Given the description of an element on the screen output the (x, y) to click on. 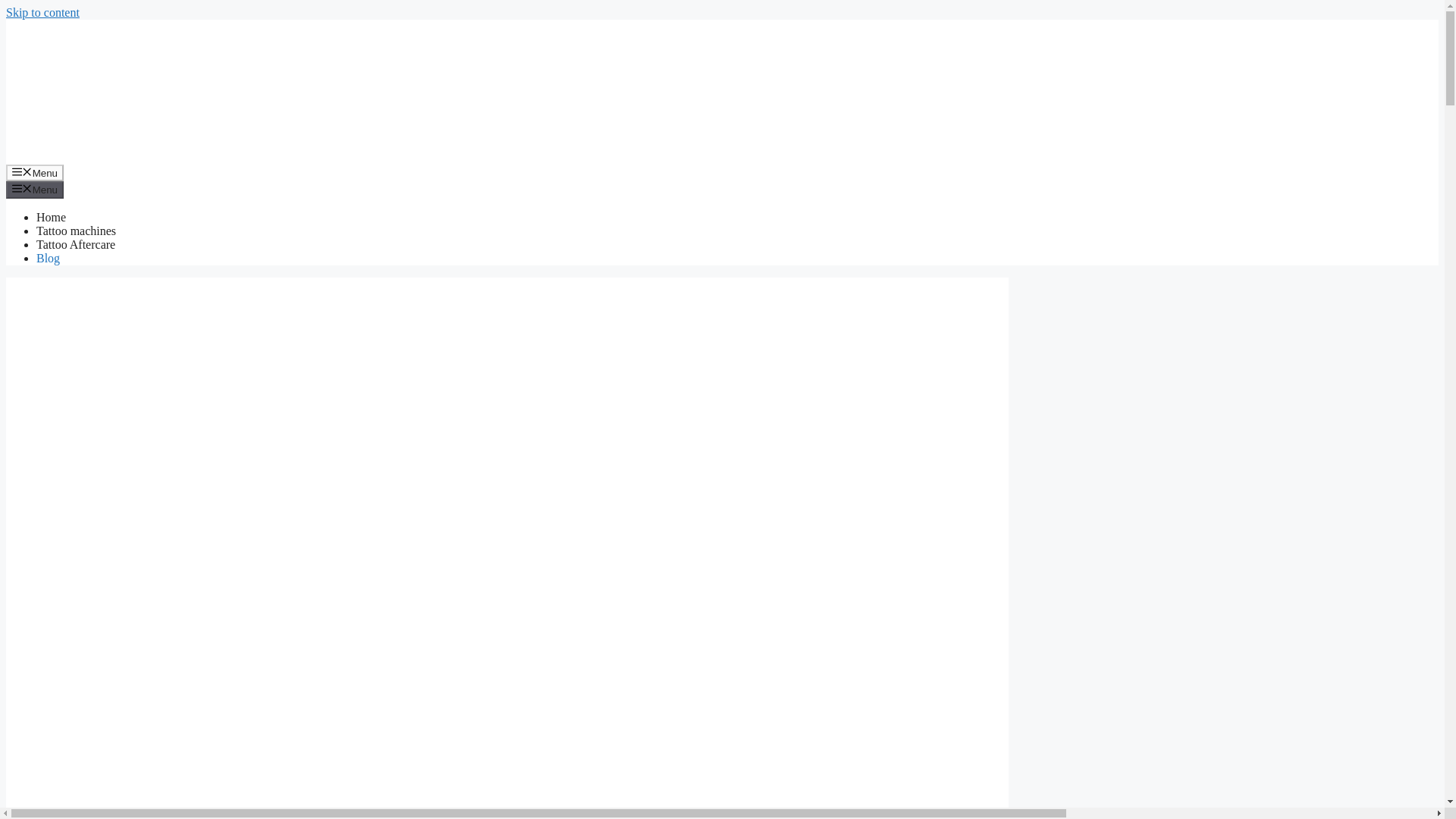
Blog (47, 257)
Menu (34, 189)
Tattoo Aftercare (75, 244)
Home (50, 216)
Skip to content (42, 11)
Menu (34, 172)
Tattoo machines (76, 230)
Skip to content (42, 11)
